Given the description of an element on the screen output the (x, y) to click on. 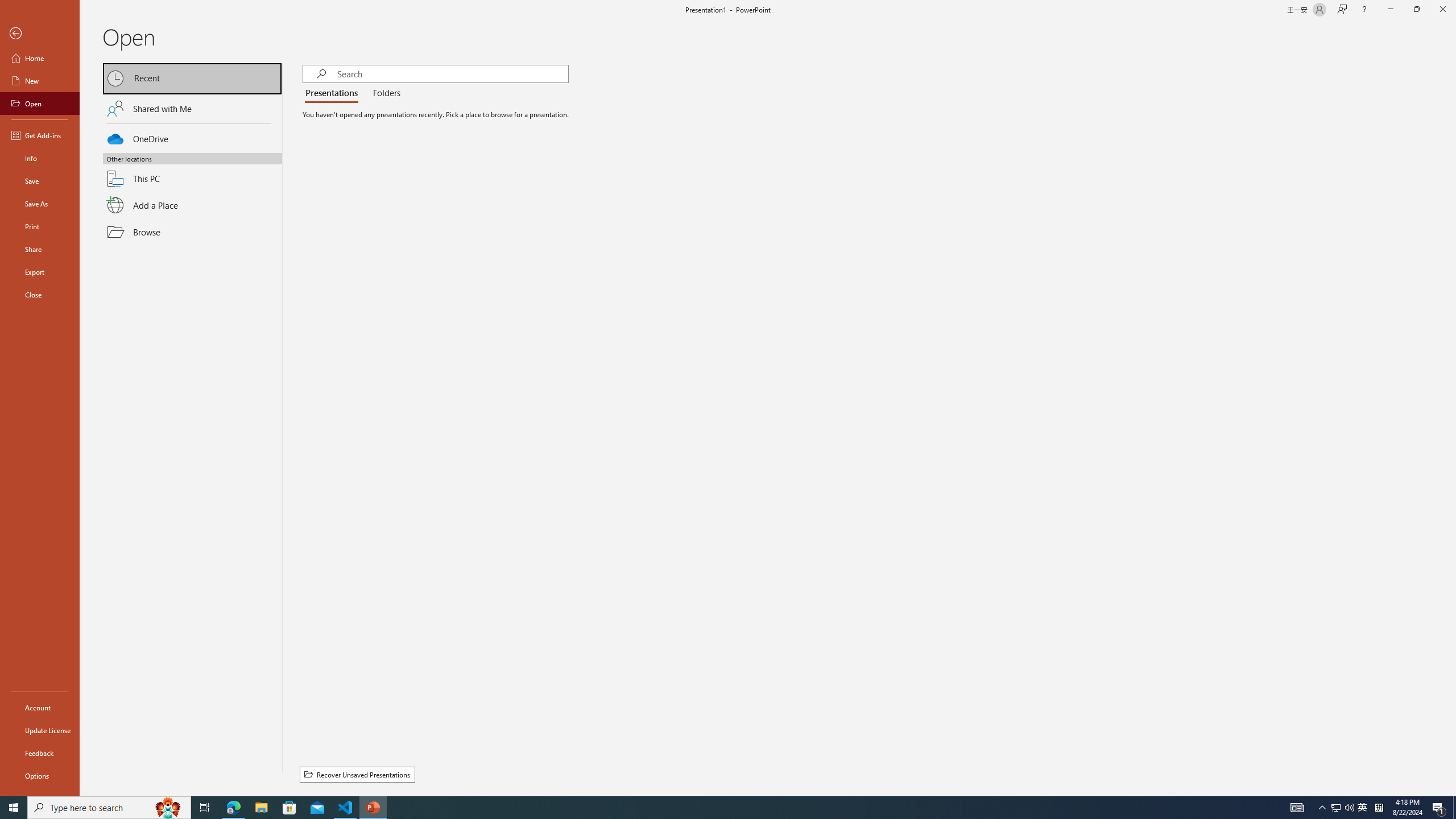
Folders (384, 93)
This PC (192, 171)
Recover Unsaved Presentations (356, 774)
OneDrive (192, 136)
Save As (40, 203)
Options (40, 775)
Presentations (333, 93)
Add a Place (192, 204)
